Given the description of an element on the screen output the (x, y) to click on. 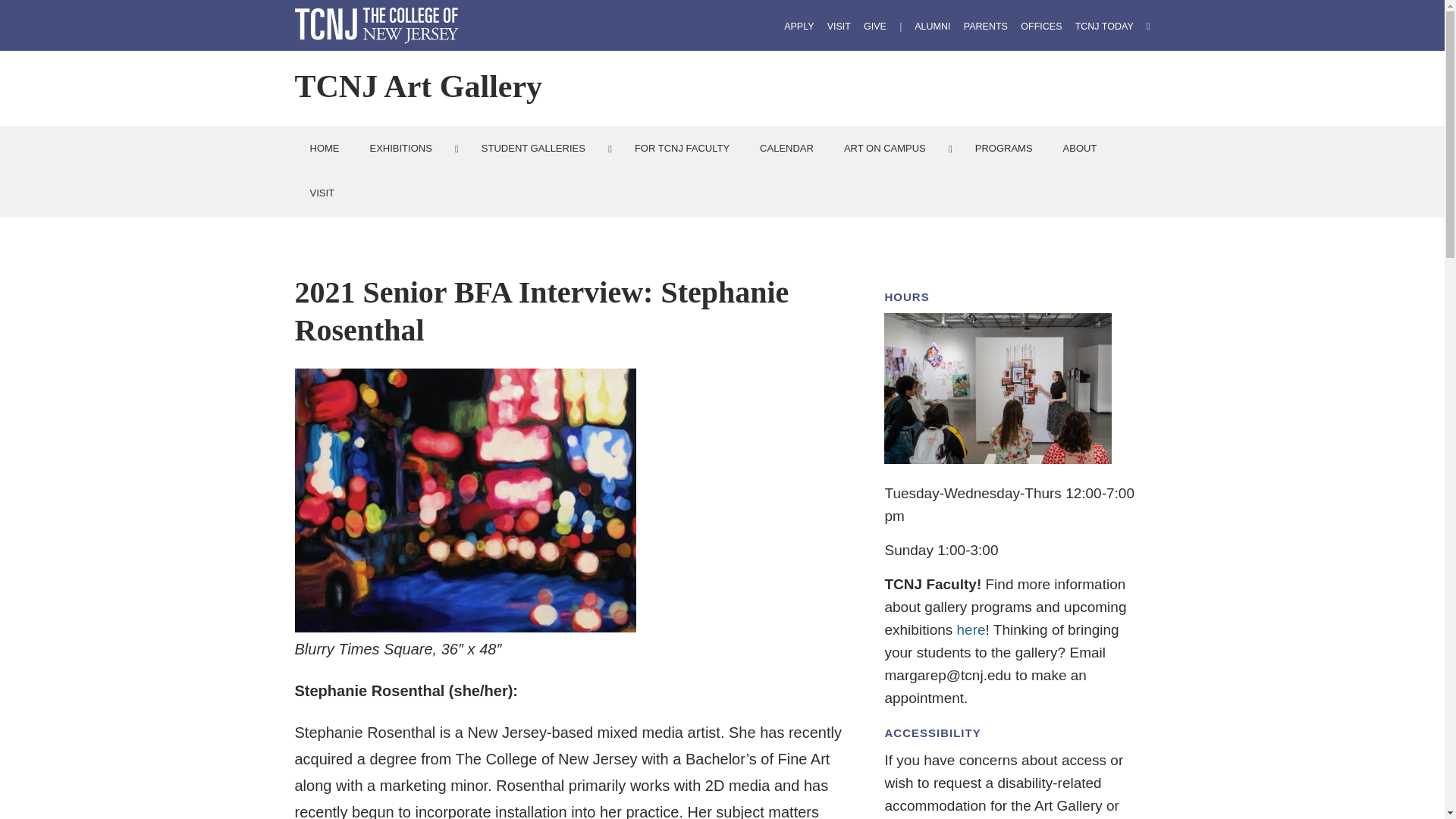
TCNJ TODAY (1104, 26)
OFFICES (1040, 26)
APPLY (798, 26)
PARENTS (985, 26)
ALUMNI (932, 26)
TCNJ Art Gallery (417, 86)
VISIT (838, 26)
HOME (323, 148)
submit (22, 10)
GIVE (874, 26)
EXHIBITIONS (410, 148)
